Given the description of an element on the screen output the (x, y) to click on. 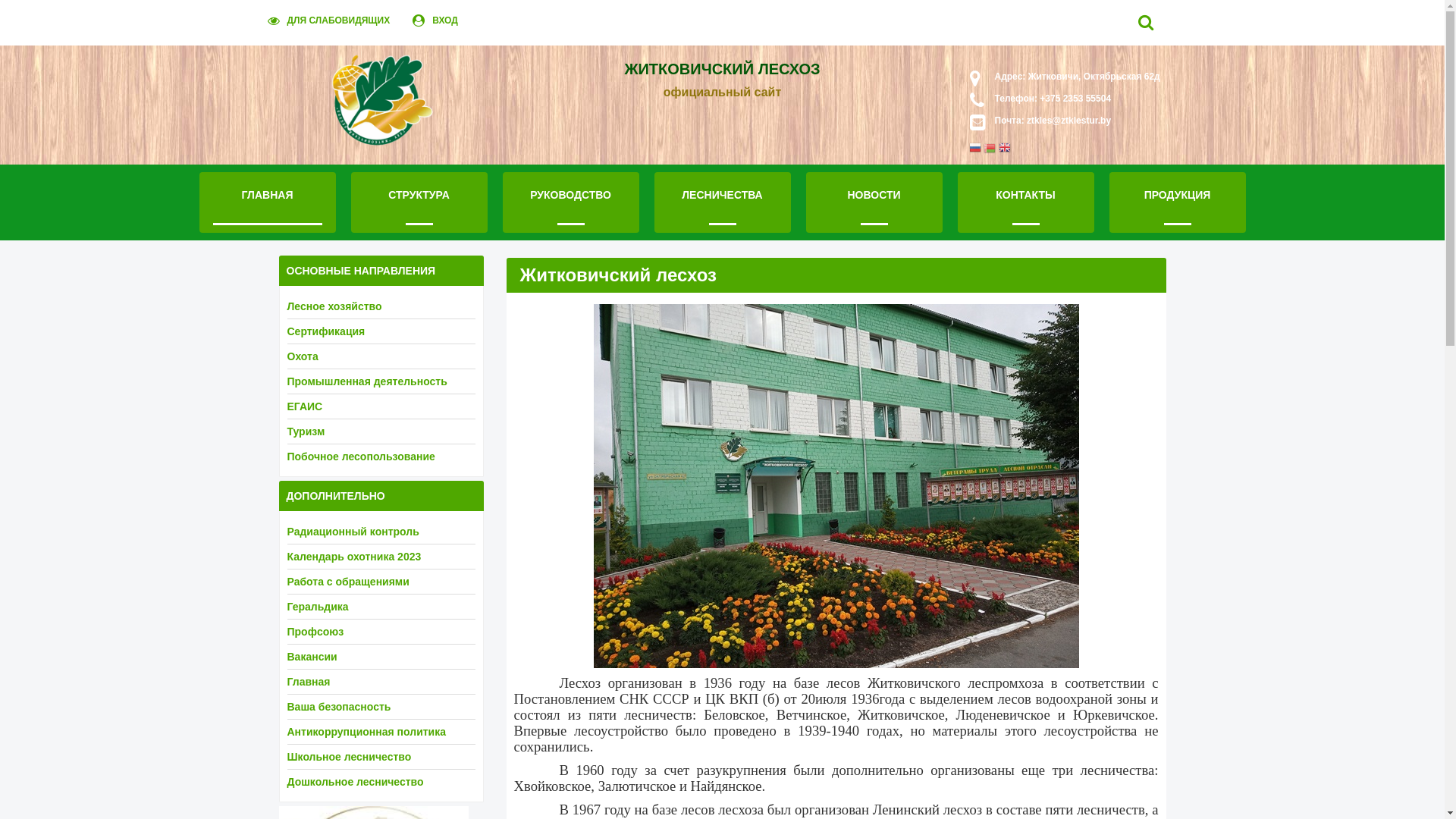
+375 2353 55504 Element type: text (1073, 98)
Belarusian Element type: hover (989, 148)
ztkles@ztklestur.by Element type: text (1068, 120)
Russian Element type: hover (975, 148)
English Element type: hover (1004, 148)
